Given the description of an element on the screen output the (x, y) to click on. 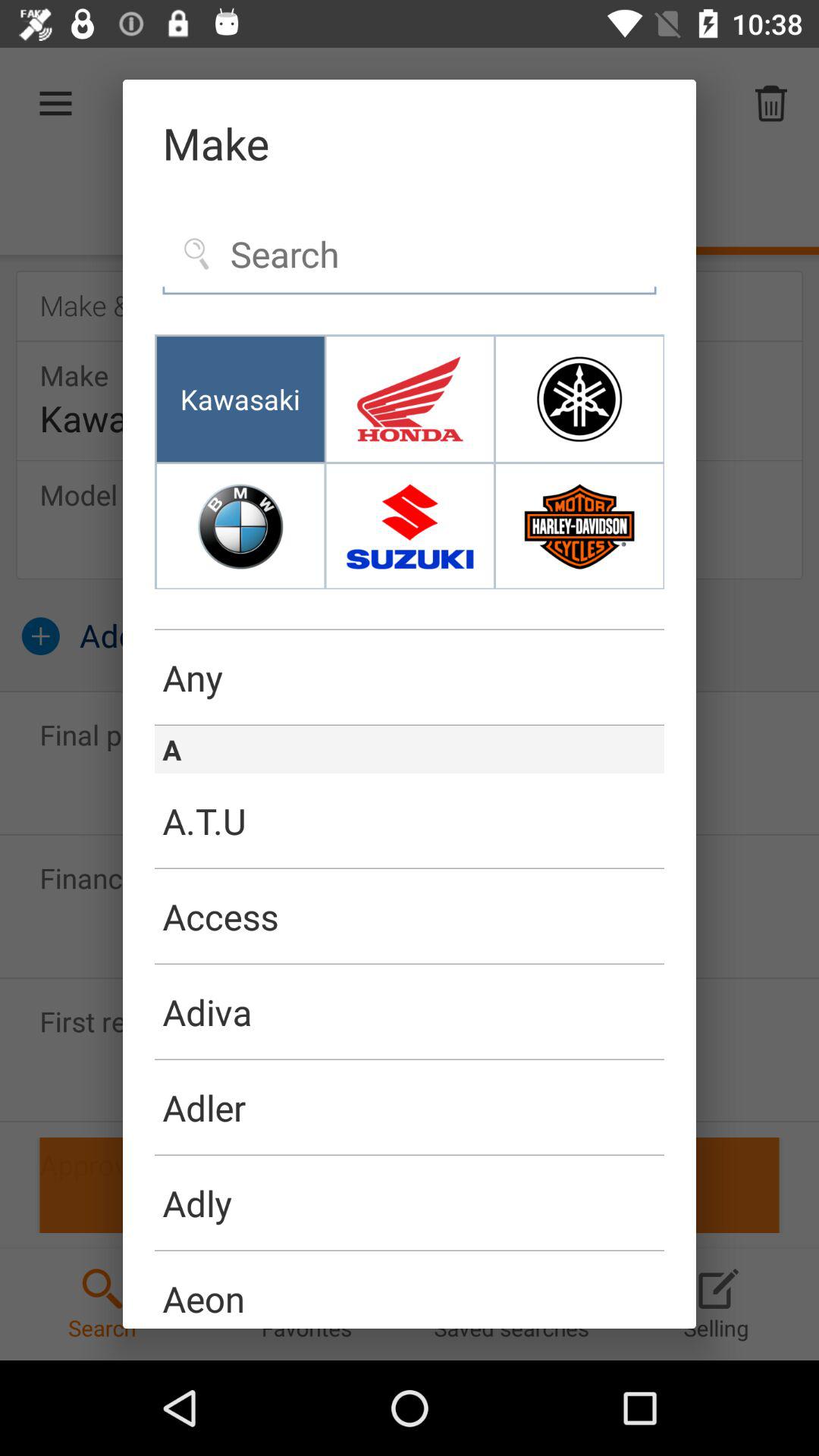
click the item above aeon item (409, 1250)
